Given the description of an element on the screen output the (x, y) to click on. 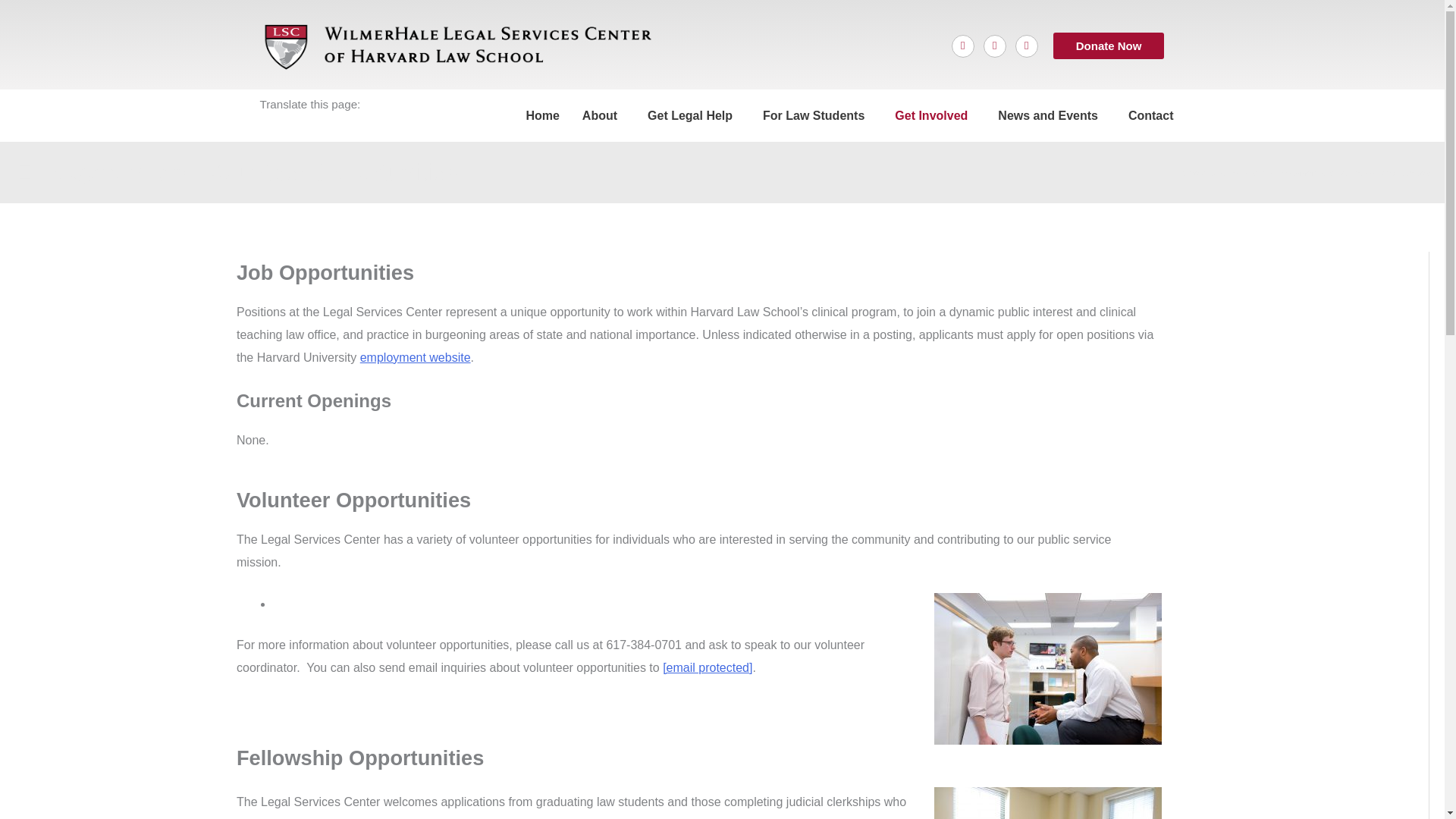
Facebook-f (963, 46)
Instagram (1026, 46)
Get Legal Help (693, 115)
Twitter (995, 46)
Home (541, 115)
About (603, 115)
Donate Now (1108, 45)
For Law Students (817, 115)
